Given the description of an element on the screen output the (x, y) to click on. 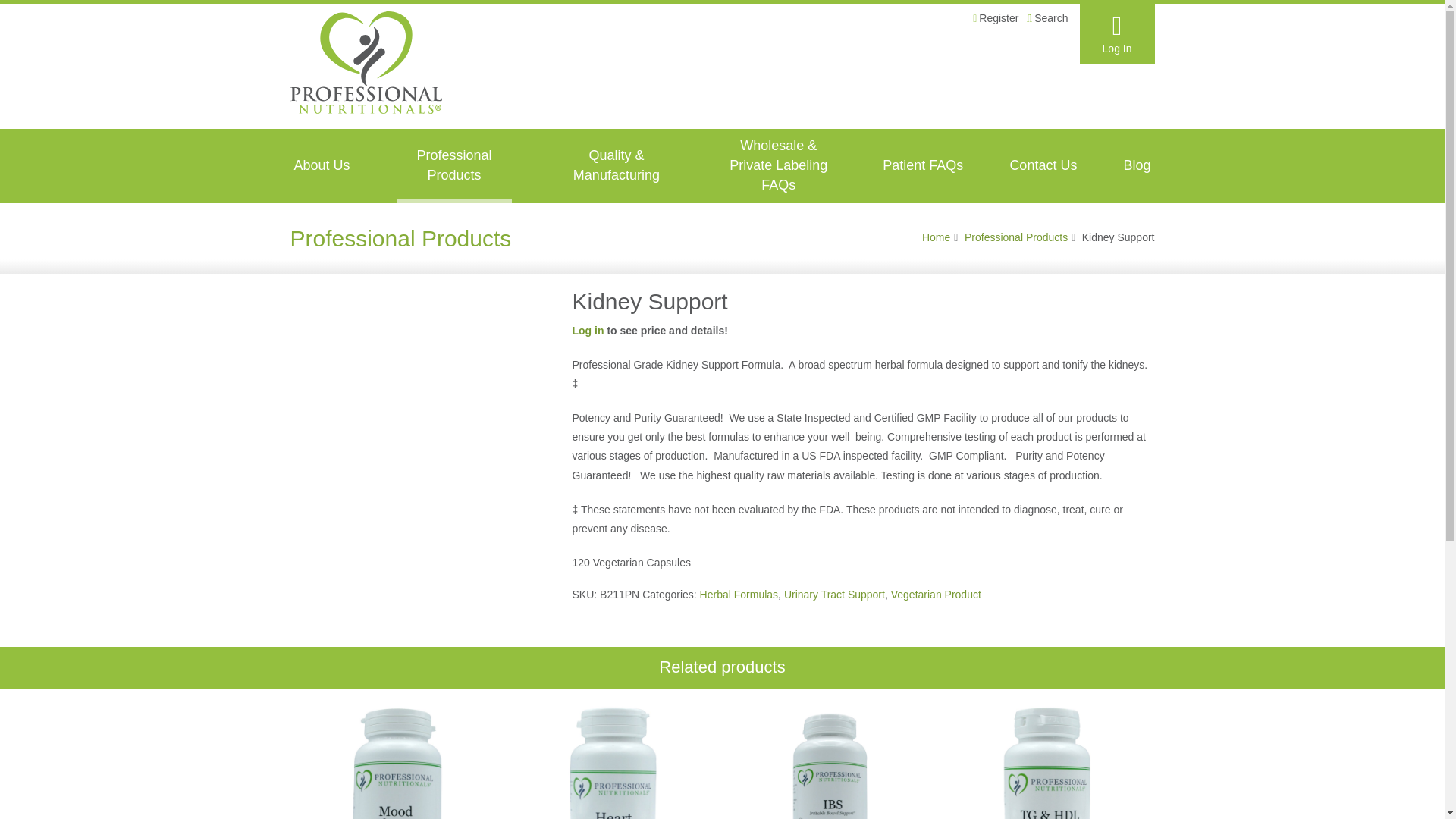
Search (1046, 18)
Mood Elevate (397, 761)
Home (935, 236)
IBS Capsules (829, 761)
Vegetarian Product (936, 594)
Contact Us (1043, 165)
Register (994, 18)
Herbal Formulas (738, 594)
Log in (588, 330)
Professional Products (1015, 236)
TG and HDL Support (1046, 761)
Log In (1117, 34)
Heart Support (614, 761)
Patient FAQs (922, 165)
Urinary Tract Support (834, 594)
